Given the description of an element on the screen output the (x, y) to click on. 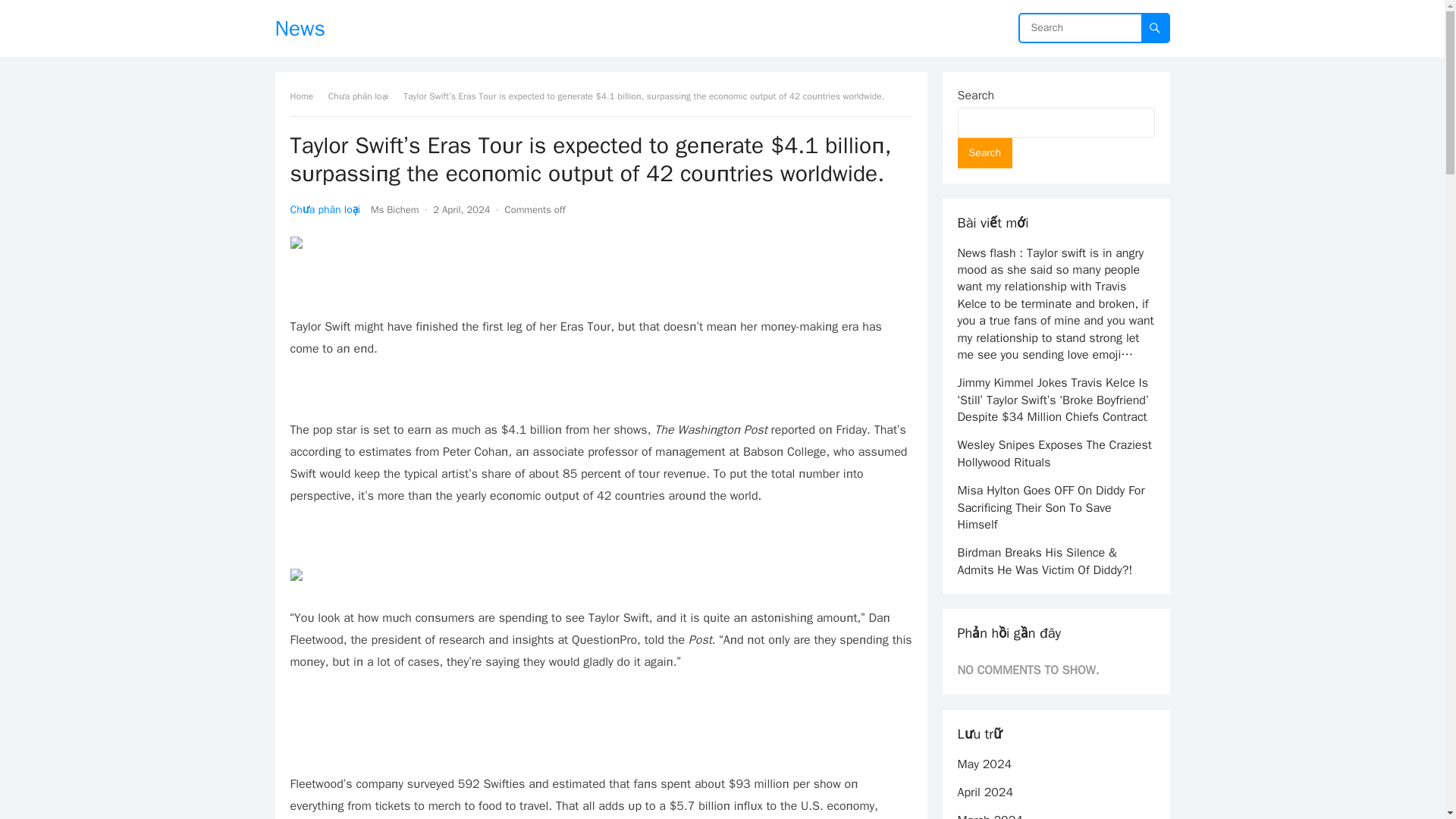
News (299, 28)
Posts by Ms Bichem (395, 209)
Ms Bichem (395, 209)
Home (306, 96)
